Given the description of an element on the screen output the (x, y) to click on. 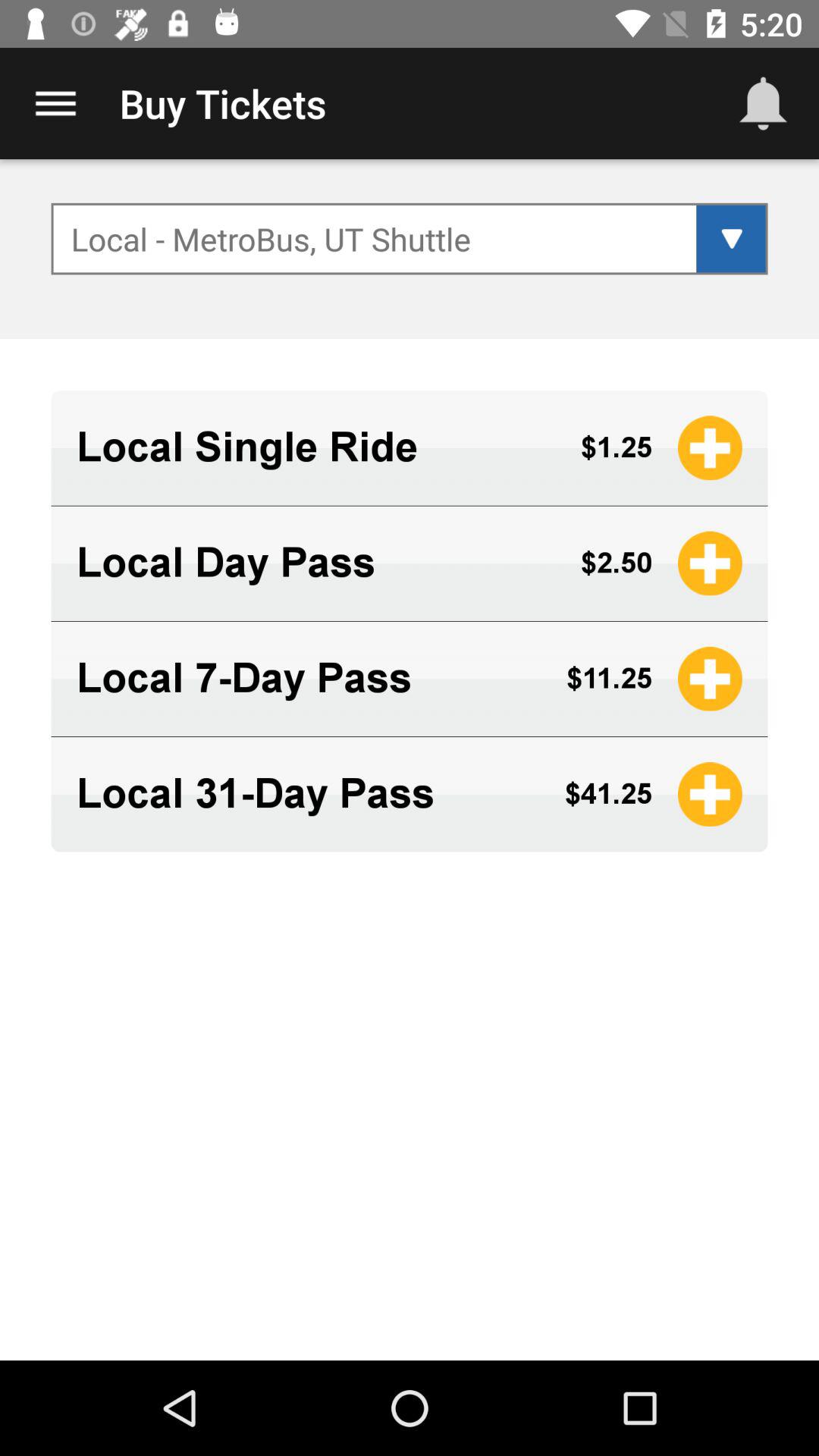
turn off item below the $1.25 app (616, 563)
